Given the description of an element on the screen output the (x, y) to click on. 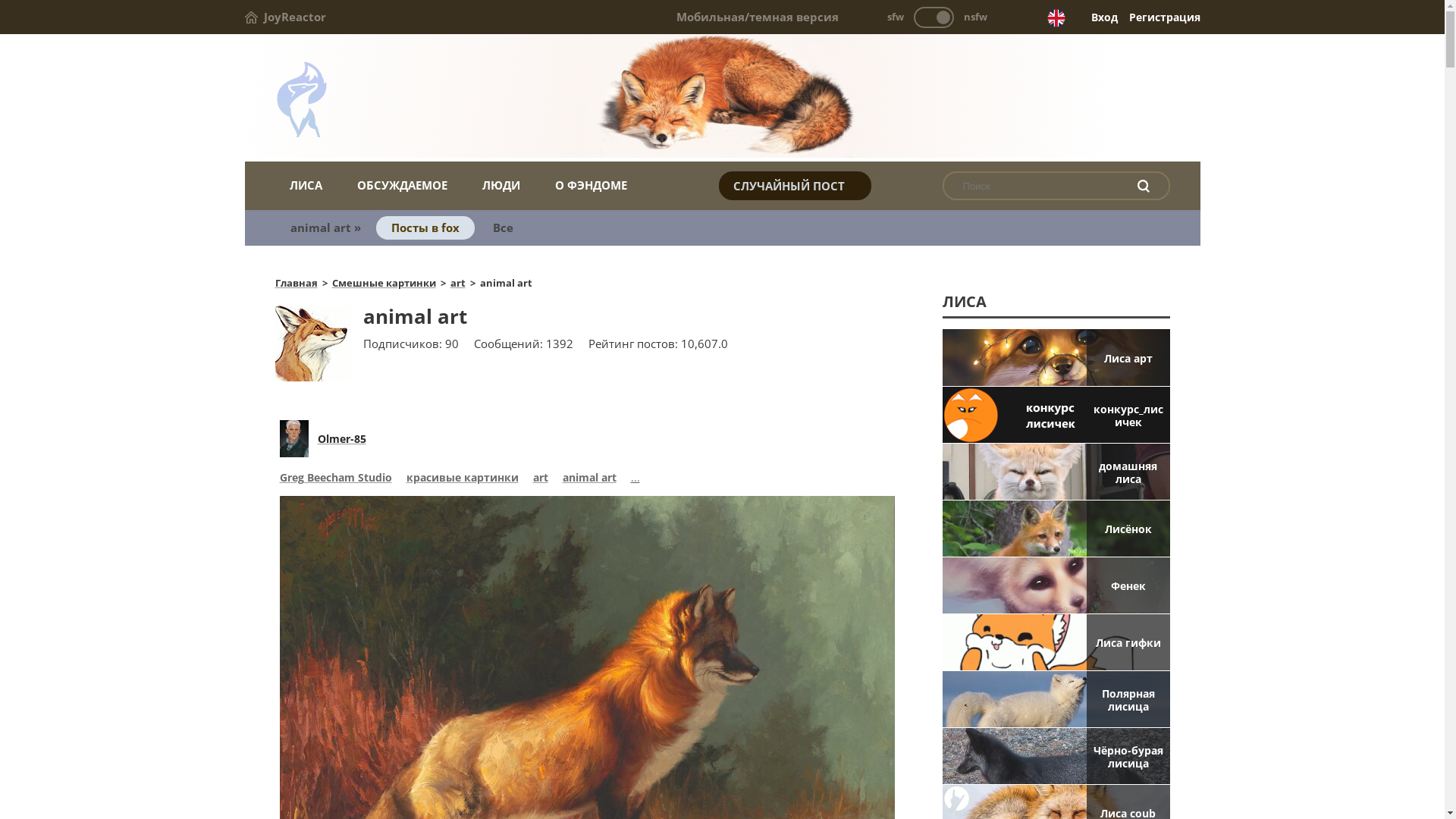
Olmer-85 Element type: text (340, 438)
Greg Beecham Studio Element type: text (335, 479)
art Element type: text (539, 479)
JoyReactor Element type: text (284, 17)
English version Element type: hover (1055, 18)
animal art Element type: text (589, 479)
art Element type: text (457, 282)
